Given the description of an element on the screen output the (x, y) to click on. 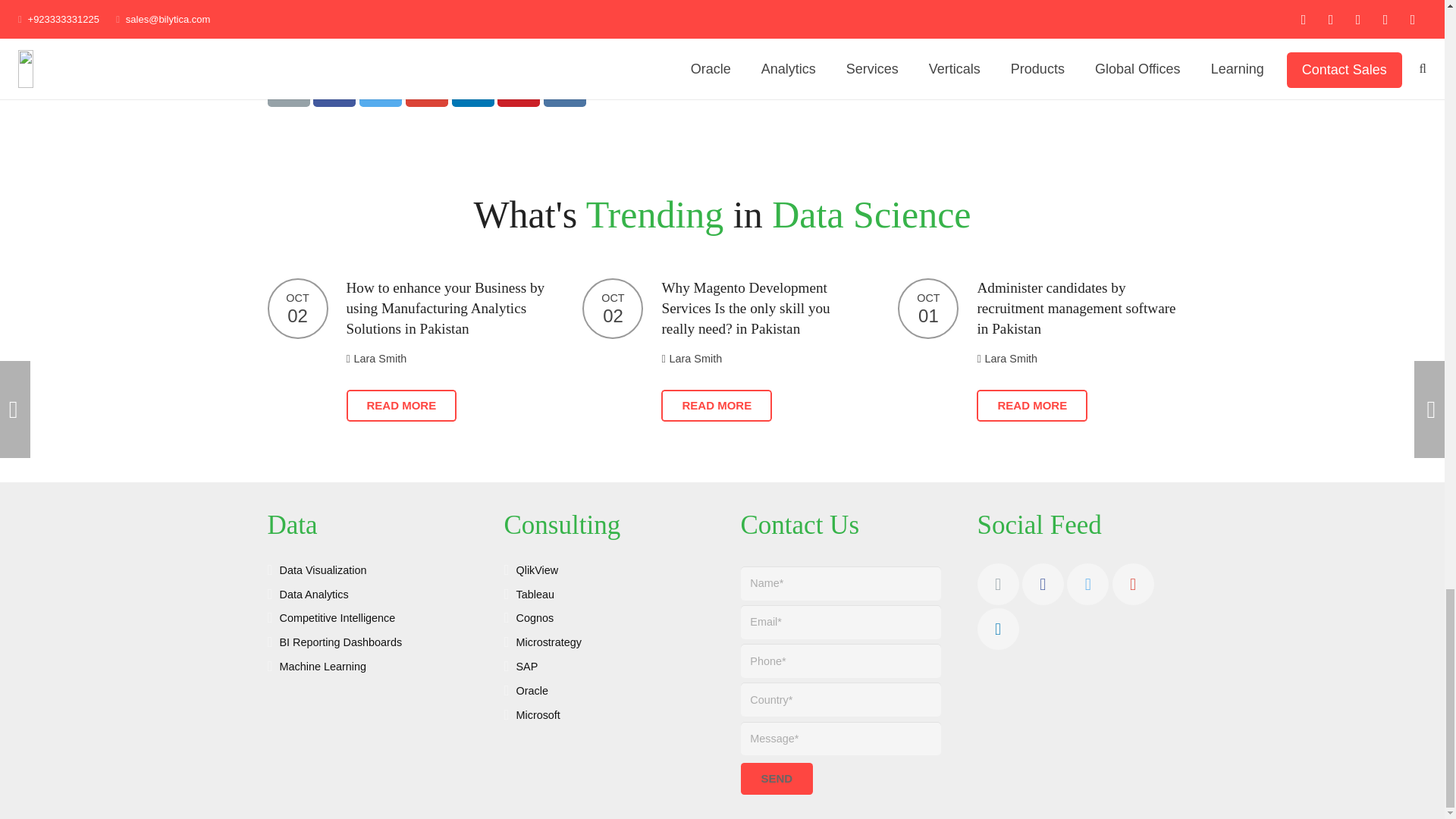
Pin this (518, 92)
Send (775, 778)
Share this (473, 92)
Tweet this (380, 92)
Share this (427, 92)
Email this (287, 92)
Share this (564, 92)
Share this (334, 92)
